Given the description of an element on the screen output the (x, y) to click on. 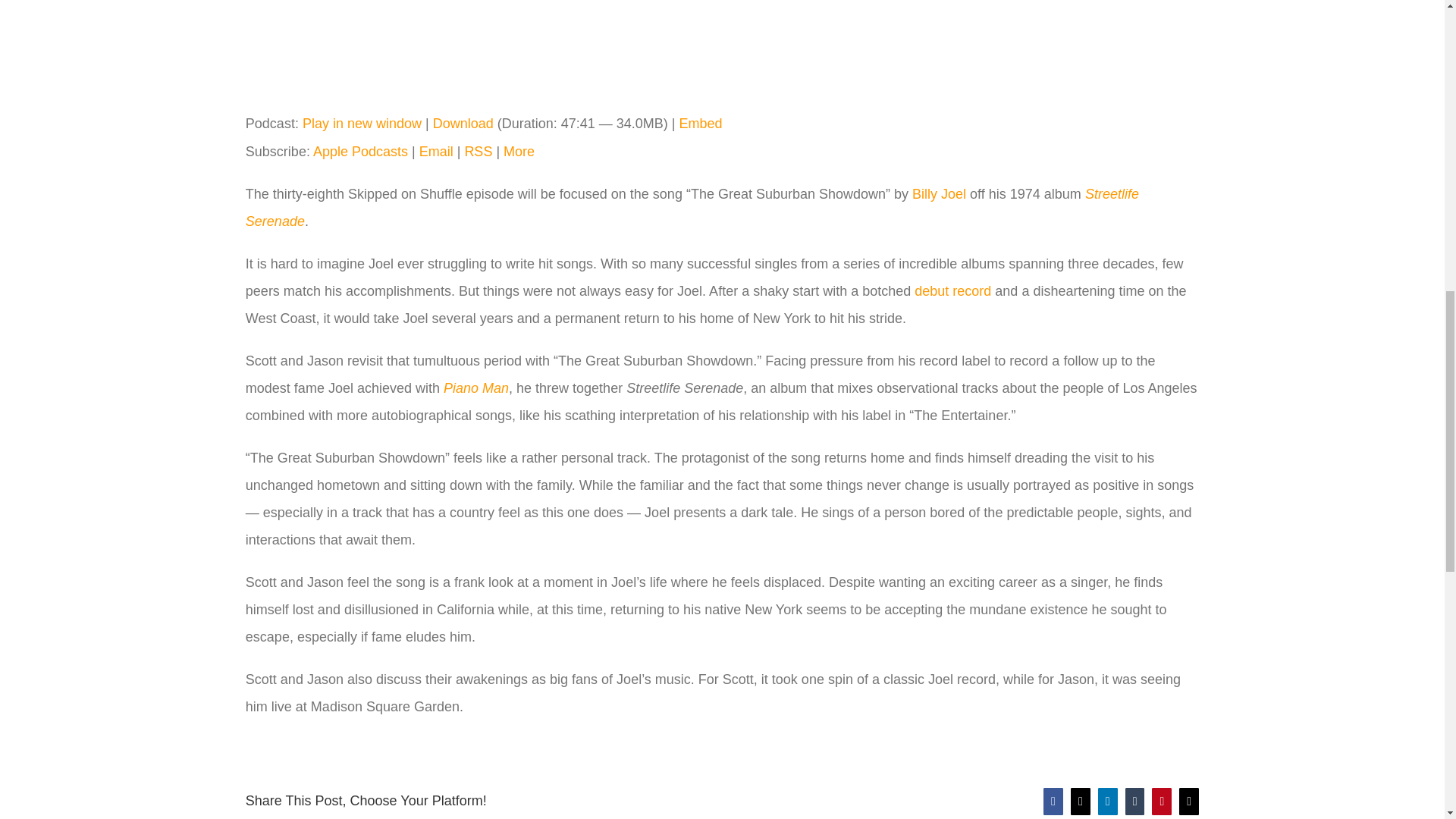
More (518, 151)
Subscribe via RSS (478, 151)
debut record (952, 290)
More (518, 151)
Billy Joel (939, 193)
Blubrry Podcast Player (722, 50)
Embed (700, 123)
Download (462, 123)
Download (462, 123)
Play in new window (362, 123)
Subscribe on Apple Podcasts (360, 151)
RSS (478, 151)
Email (435, 151)
Play in new window (362, 123)
Piano Man (476, 387)
